Given the description of an element on the screen output the (x, y) to click on. 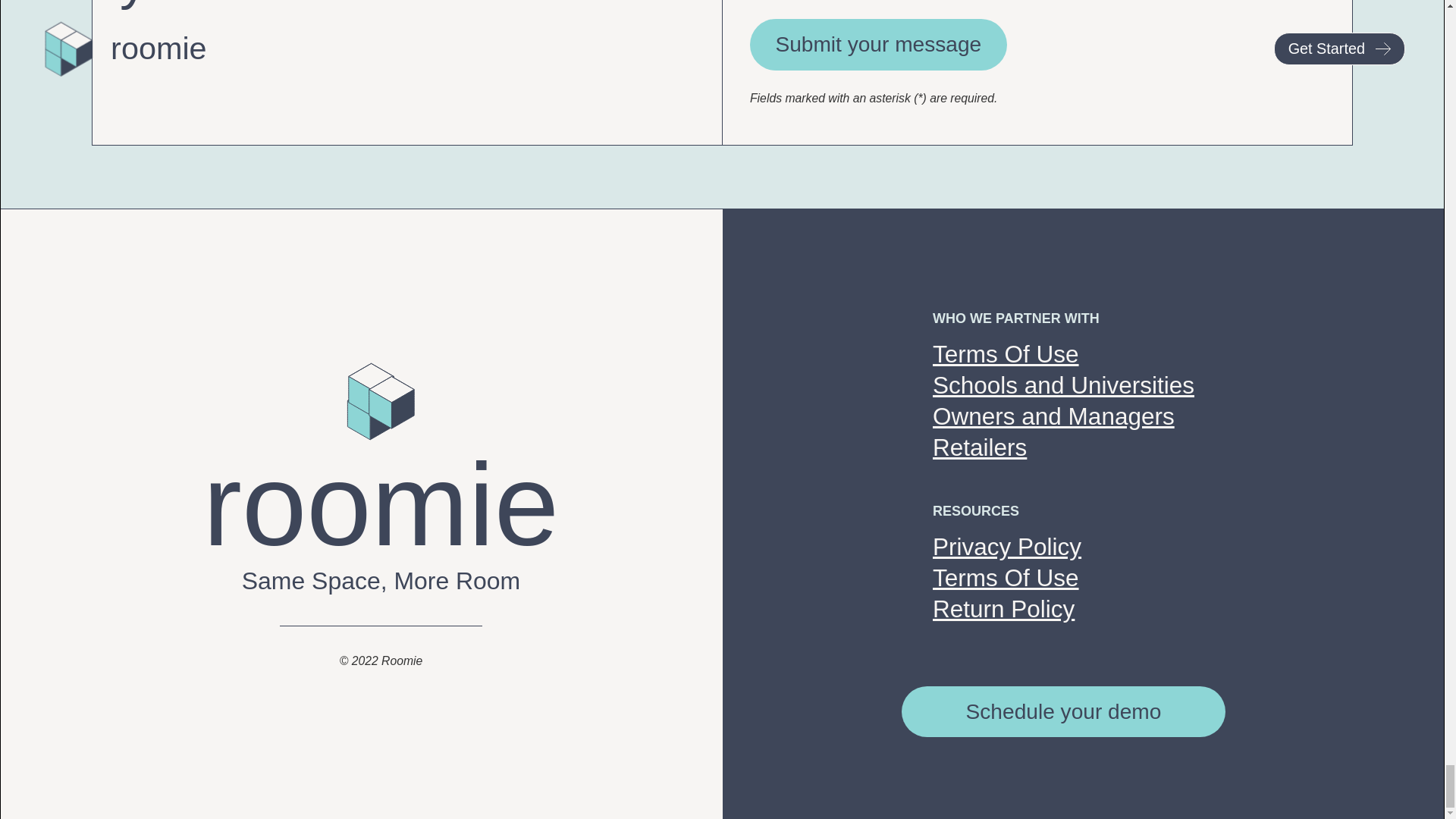
Schools and Universities (1063, 385)
Terms Of Use (1005, 577)
Submit your message (878, 44)
Owners and Managers (1053, 416)
Return Policy (1005, 624)
Terms Of Use (1005, 354)
Retailers (979, 447)
Schedule your demo (1063, 711)
Submit your message (878, 44)
Privacy Policy (1007, 546)
